Given the description of an element on the screen output the (x, y) to click on. 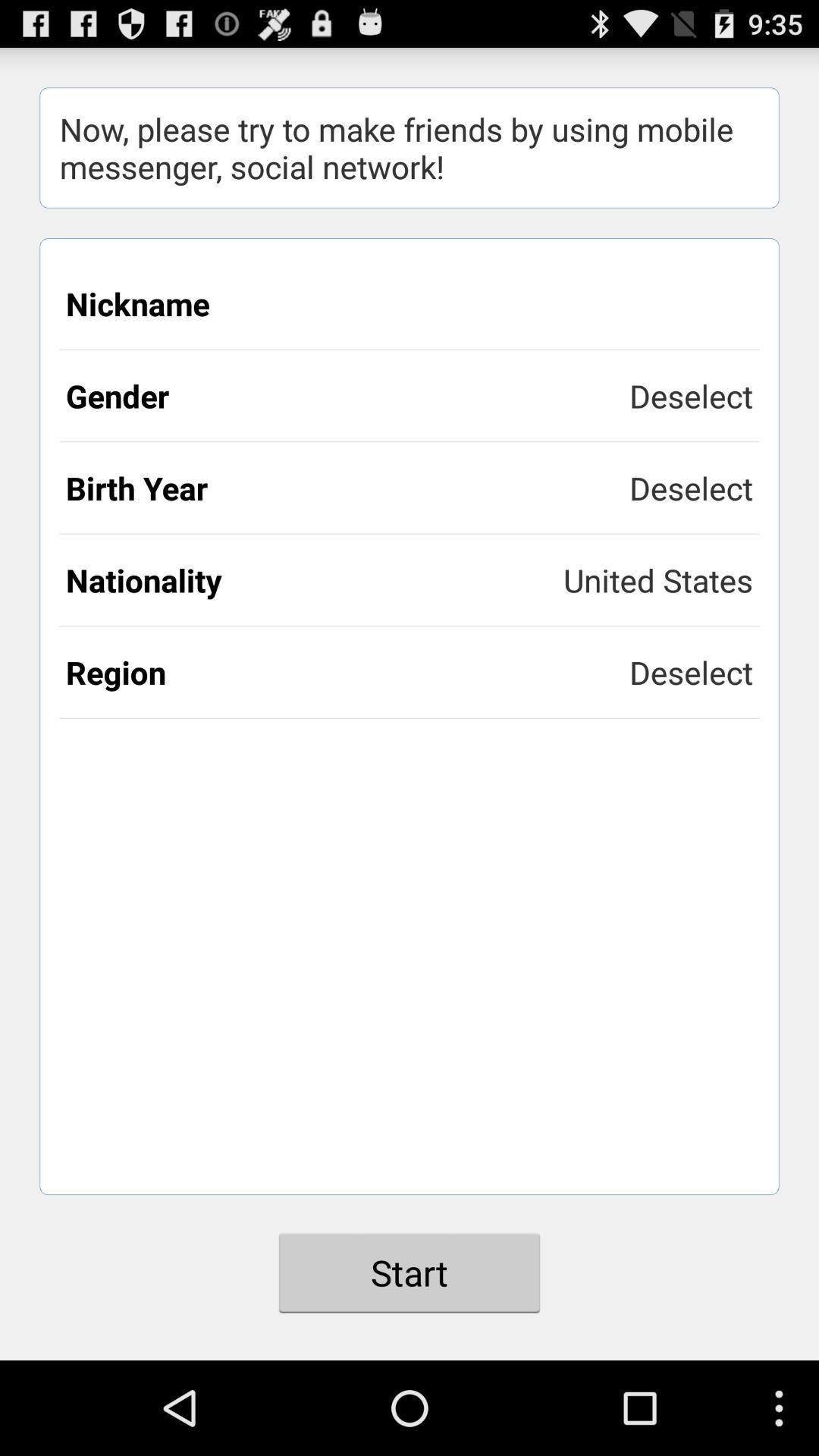
click icon to the left of deselect (347, 487)
